Given the description of an element on the screen output the (x, y) to click on. 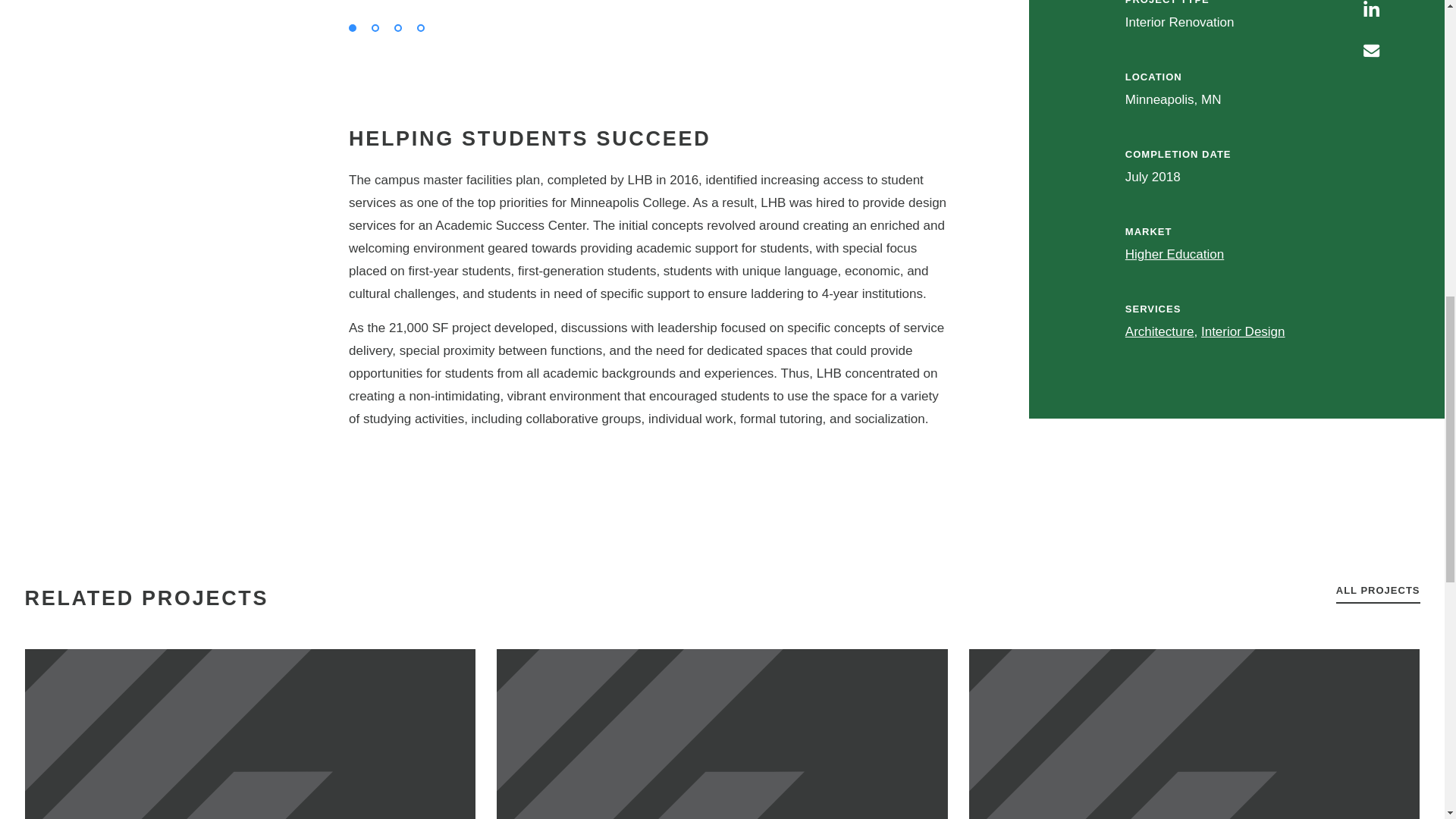
Previous slide (72, 4)
